Given the description of an element on the screen output the (x, y) to click on. 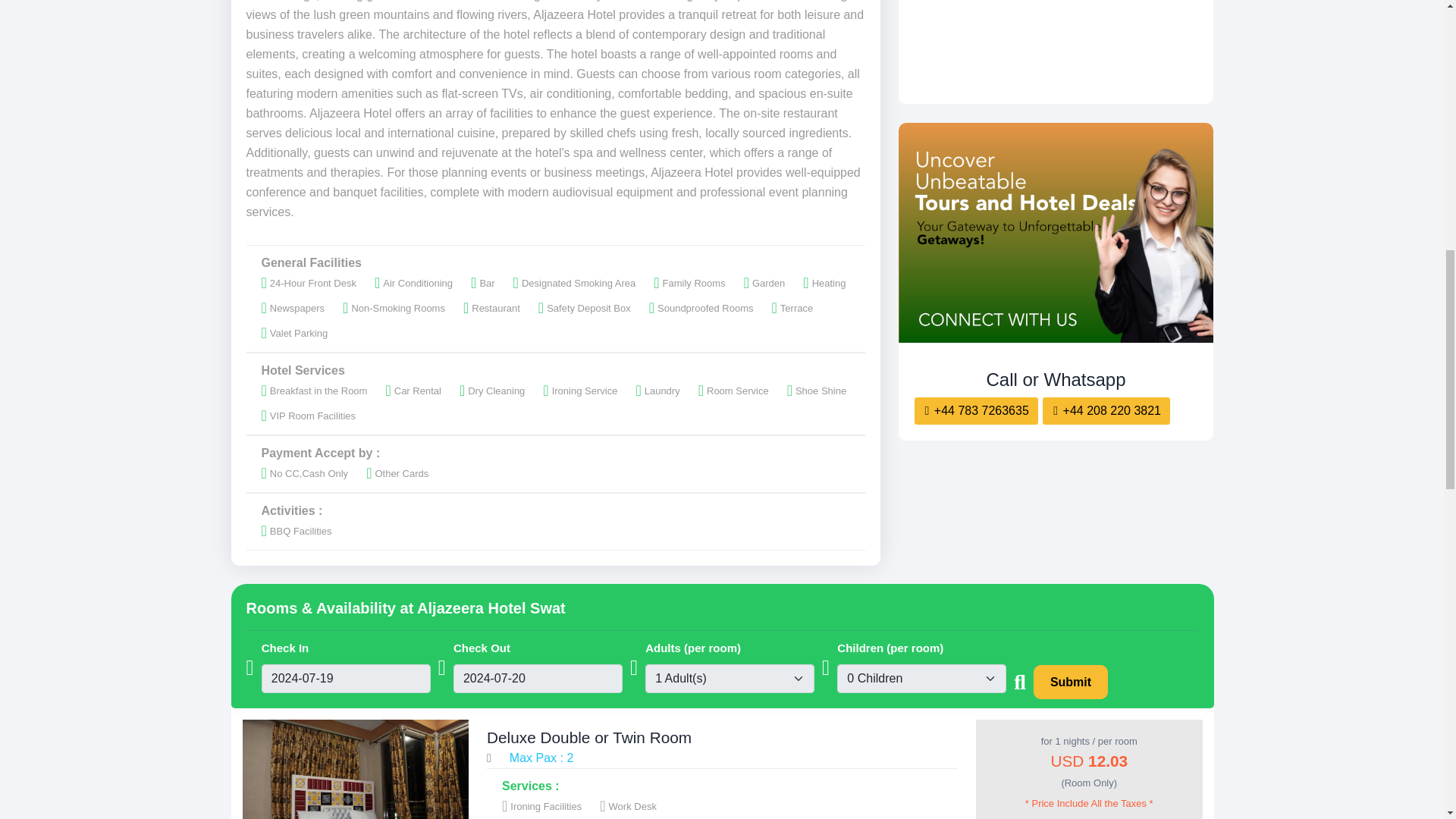
Submit (1070, 682)
2024-07-20 (537, 678)
2024-07-19 (346, 678)
